Given the description of an element on the screen output the (x, y) to click on. 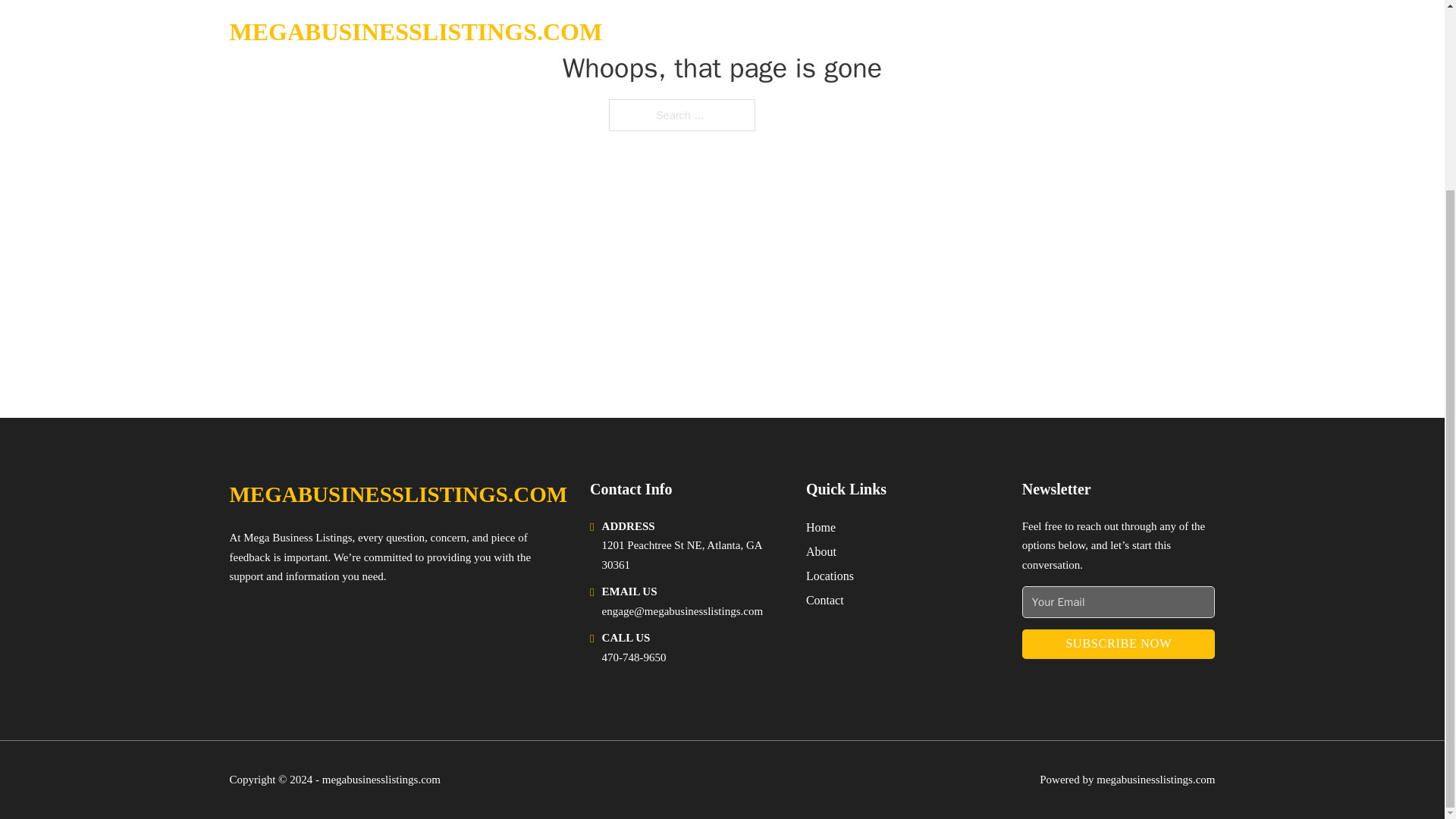
MEGABUSINESSLISTINGS.COM (397, 494)
About (820, 551)
470-748-9650 (634, 657)
Locations (829, 575)
SUBSCRIBE NOW (1118, 644)
Home (820, 526)
Contact (825, 599)
